Given the description of an element on the screen output the (x, y) to click on. 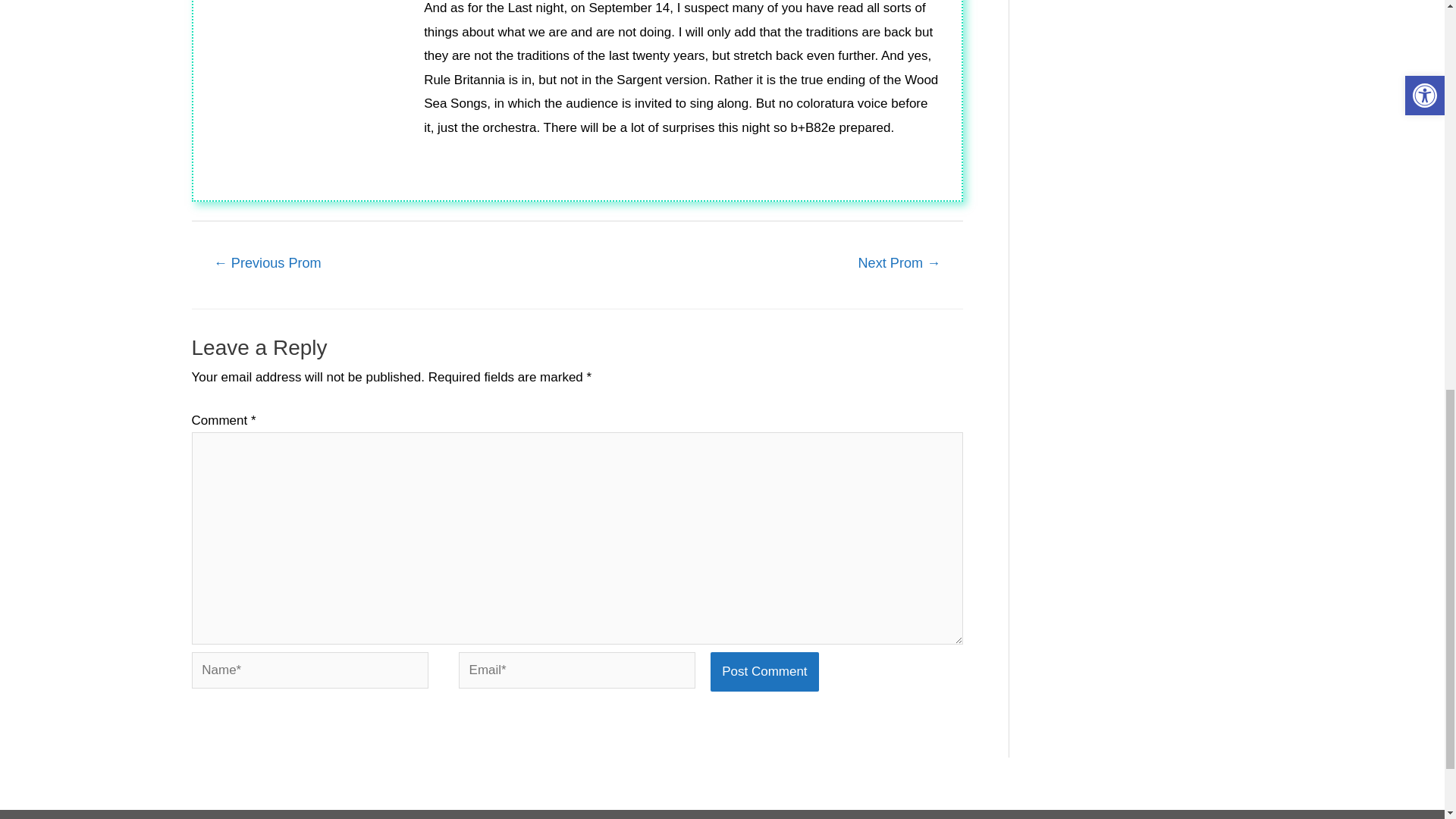
Proms 2002 - A personal introduction by the editor (266, 264)
Post Comment (764, 671)
Post Comment (764, 671)
